Given the description of an element on the screen output the (x, y) to click on. 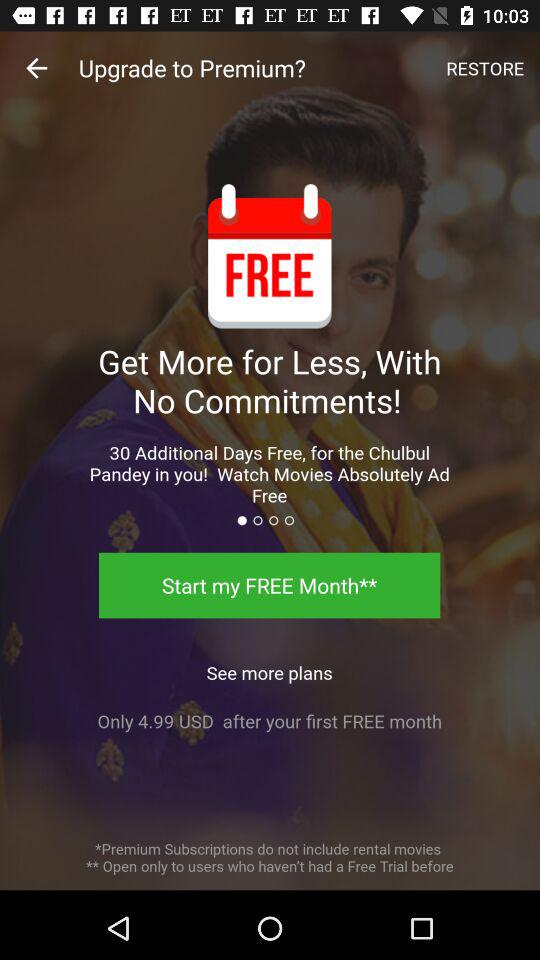
click the app to the left of the upgrade to premium? app (36, 68)
